Given the description of an element on the screen output the (x, y) to click on. 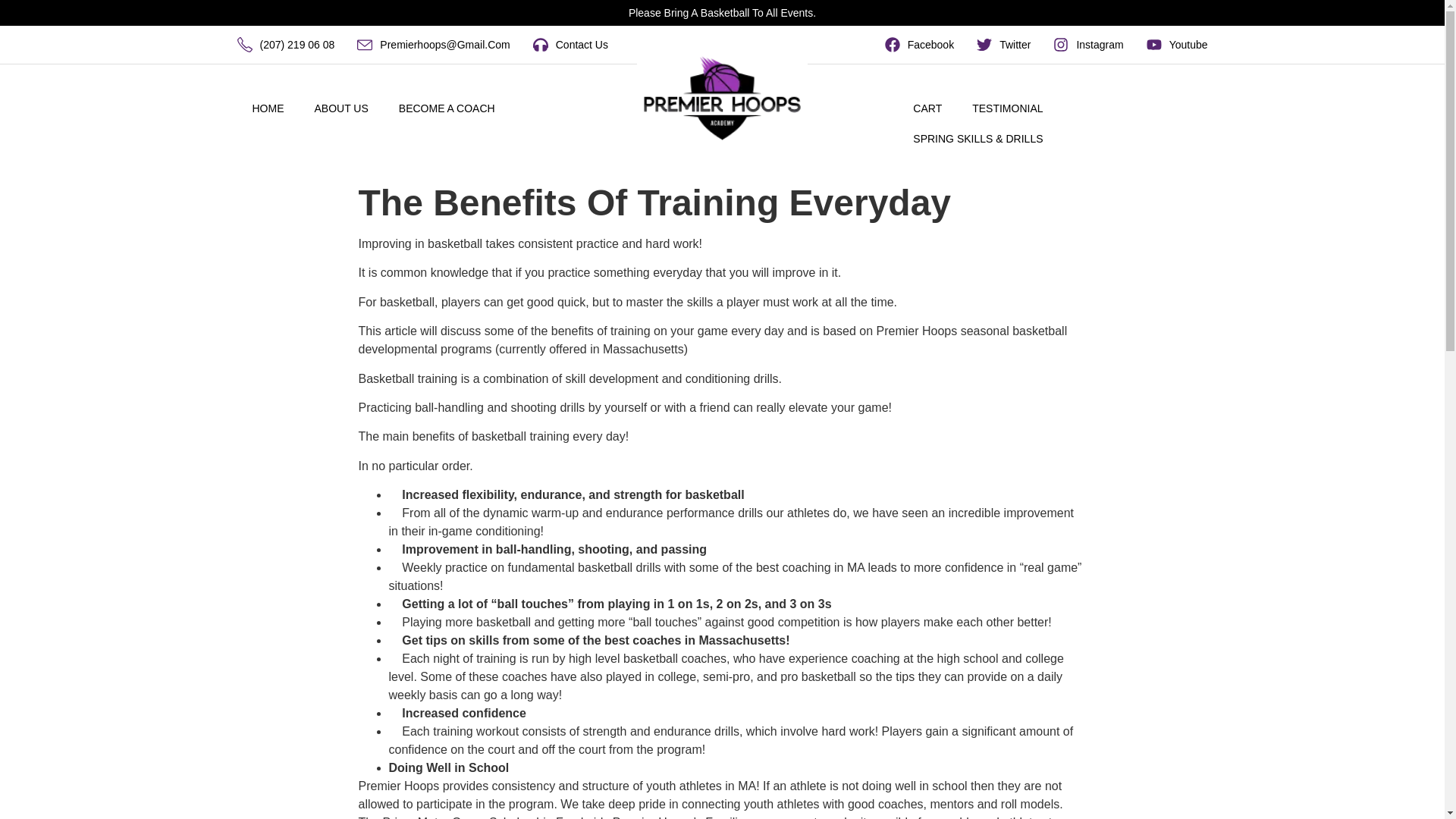
CART (927, 108)
ABOUT US (340, 108)
Instagram (1087, 20)
BECOME A COACH (447, 108)
Youtube (1177, 22)
HOME (266, 108)
Facebook (919, 14)
TESTIMONIAL (1007, 108)
Contact Us (570, 11)
Twitter (1003, 16)
